Given the description of an element on the screen output the (x, y) to click on. 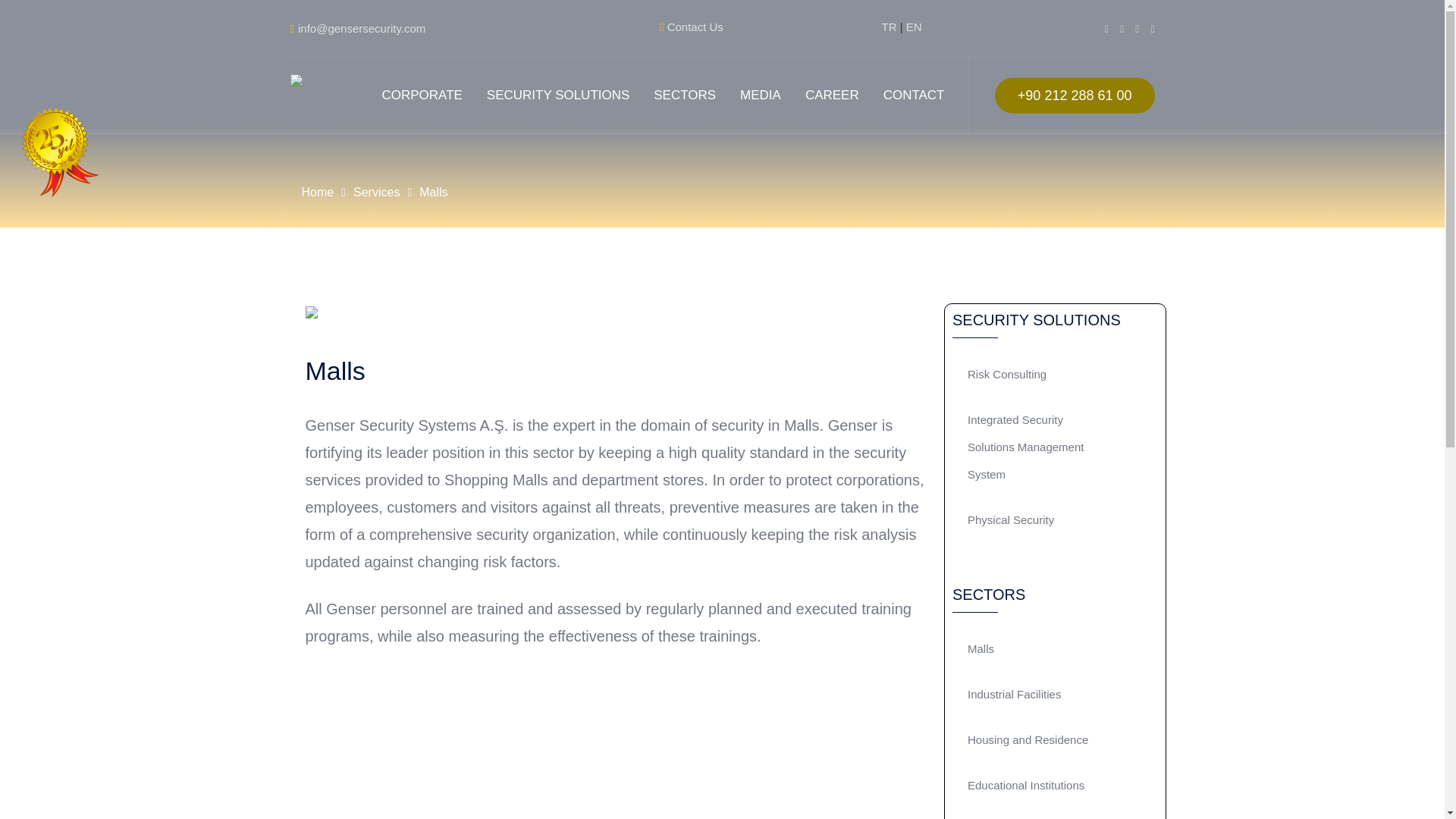
CORPORATE (421, 95)
CONTACT (913, 95)
Services (375, 191)
Home (317, 191)
Integrated Security Solutions Management System (1036, 447)
Risk Consulting (1036, 374)
CAREER (831, 95)
TR (888, 26)
SECTORS (685, 95)
SECURITY SOLUTIONS (558, 95)
